Given the description of an element on the screen output the (x, y) to click on. 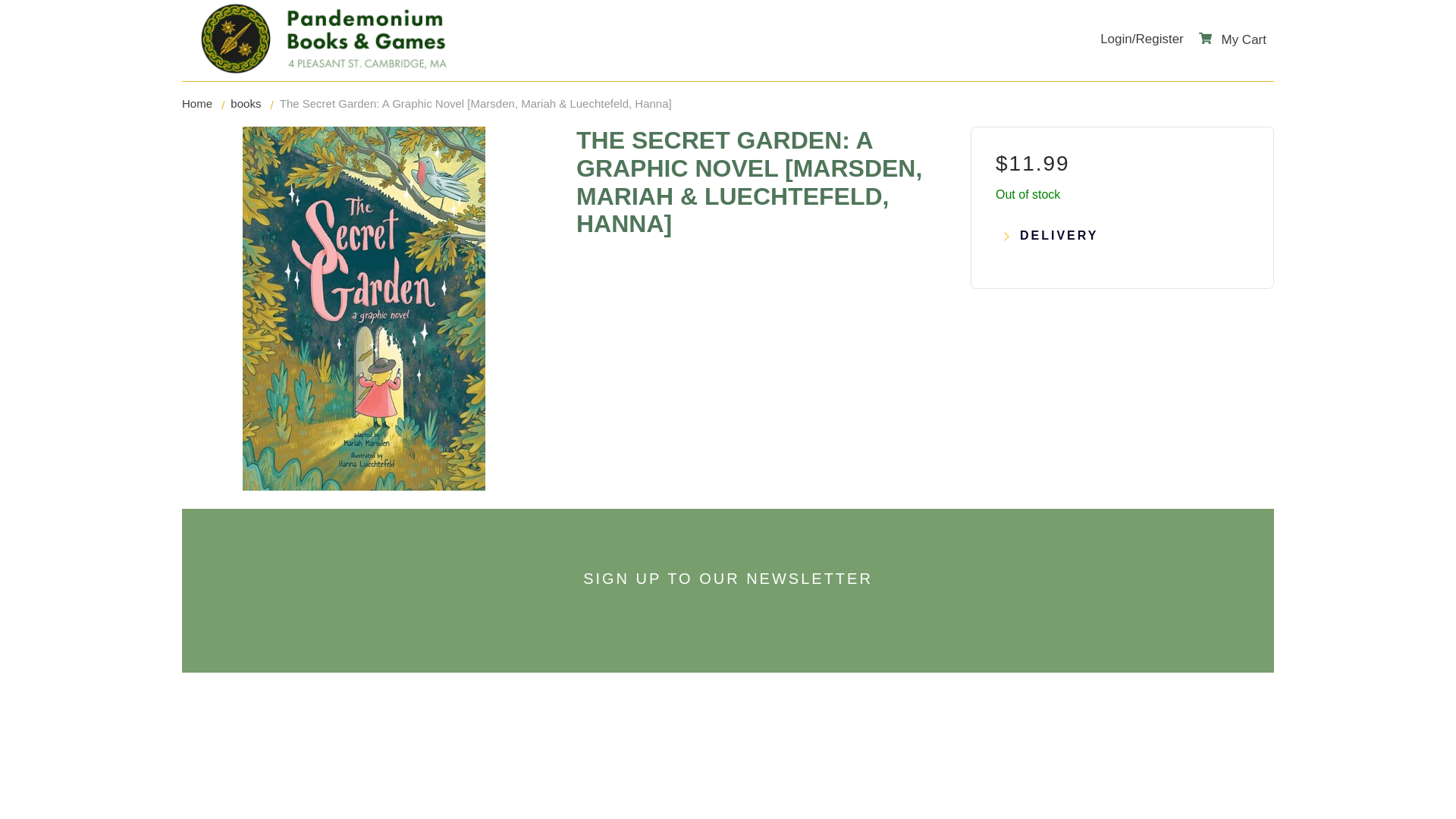
My Cart (1232, 39)
books (245, 103)
Home (197, 103)
